Given the description of an element on the screen output the (x, y) to click on. 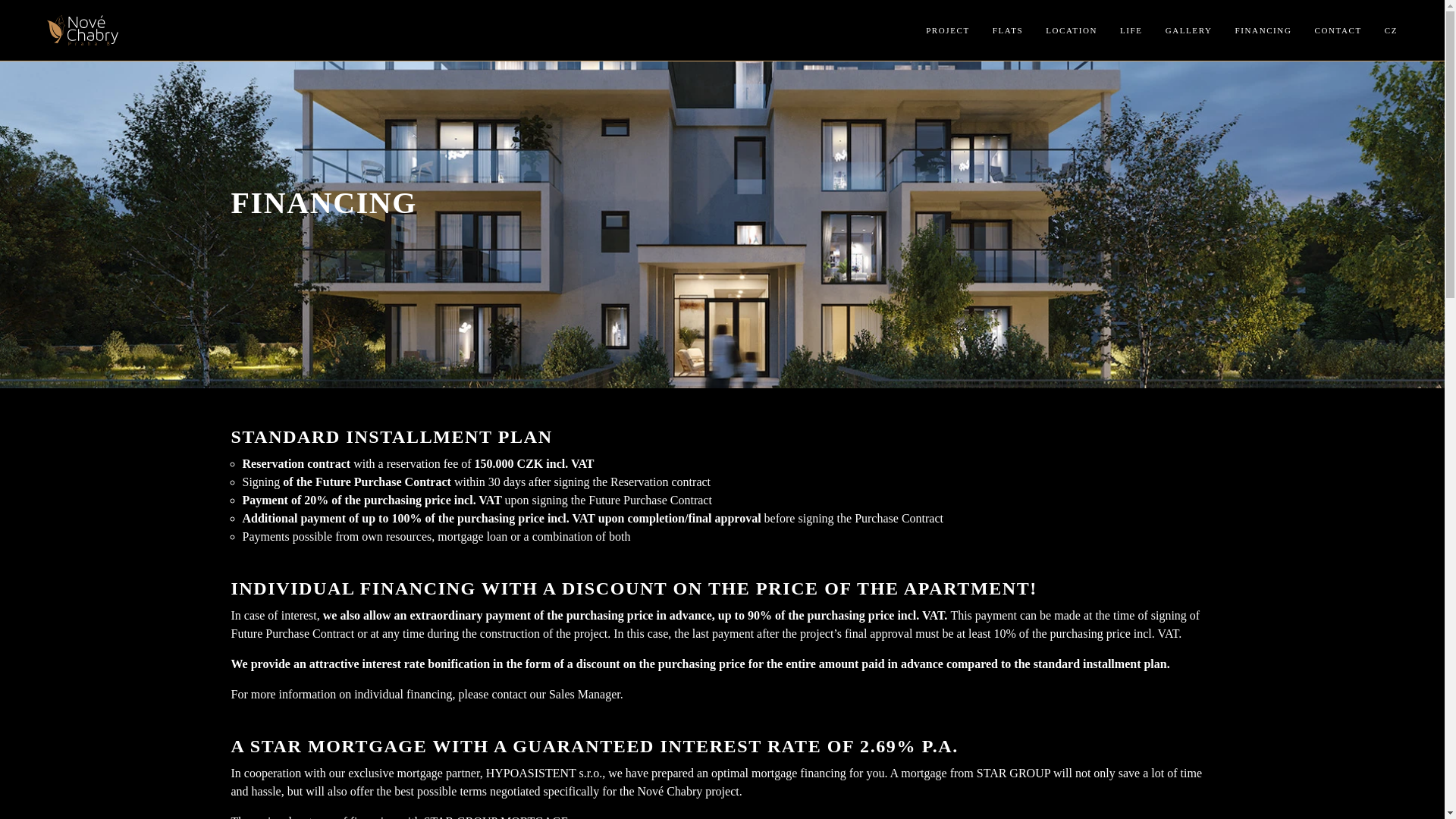
LIFE (1119, 30)
FINANCING (1252, 30)
CONTACT (1326, 30)
PROJECT (935, 30)
CZ (1379, 30)
LOCATION (1060, 30)
FLATS (996, 30)
GALLERY (1177, 30)
